Given the description of an element on the screen output the (x, y) to click on. 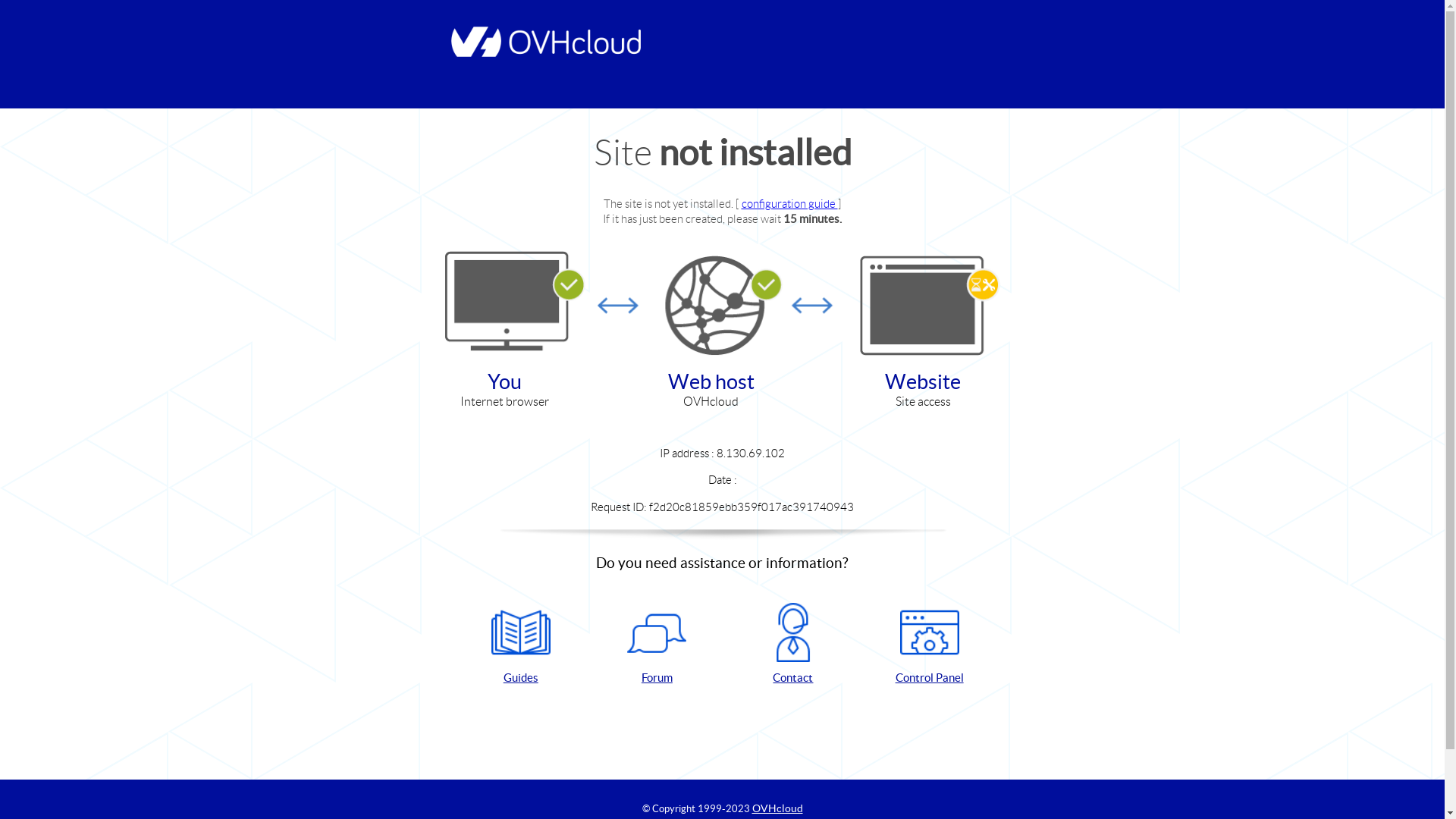
configuration guide Element type: text (789, 203)
OVHcloud Element type: text (777, 808)
Contact Element type: text (792, 644)
Forum Element type: text (656, 644)
Guides Element type: text (520, 644)
Control Panel Element type: text (929, 644)
